Given the description of an element on the screen output the (x, y) to click on. 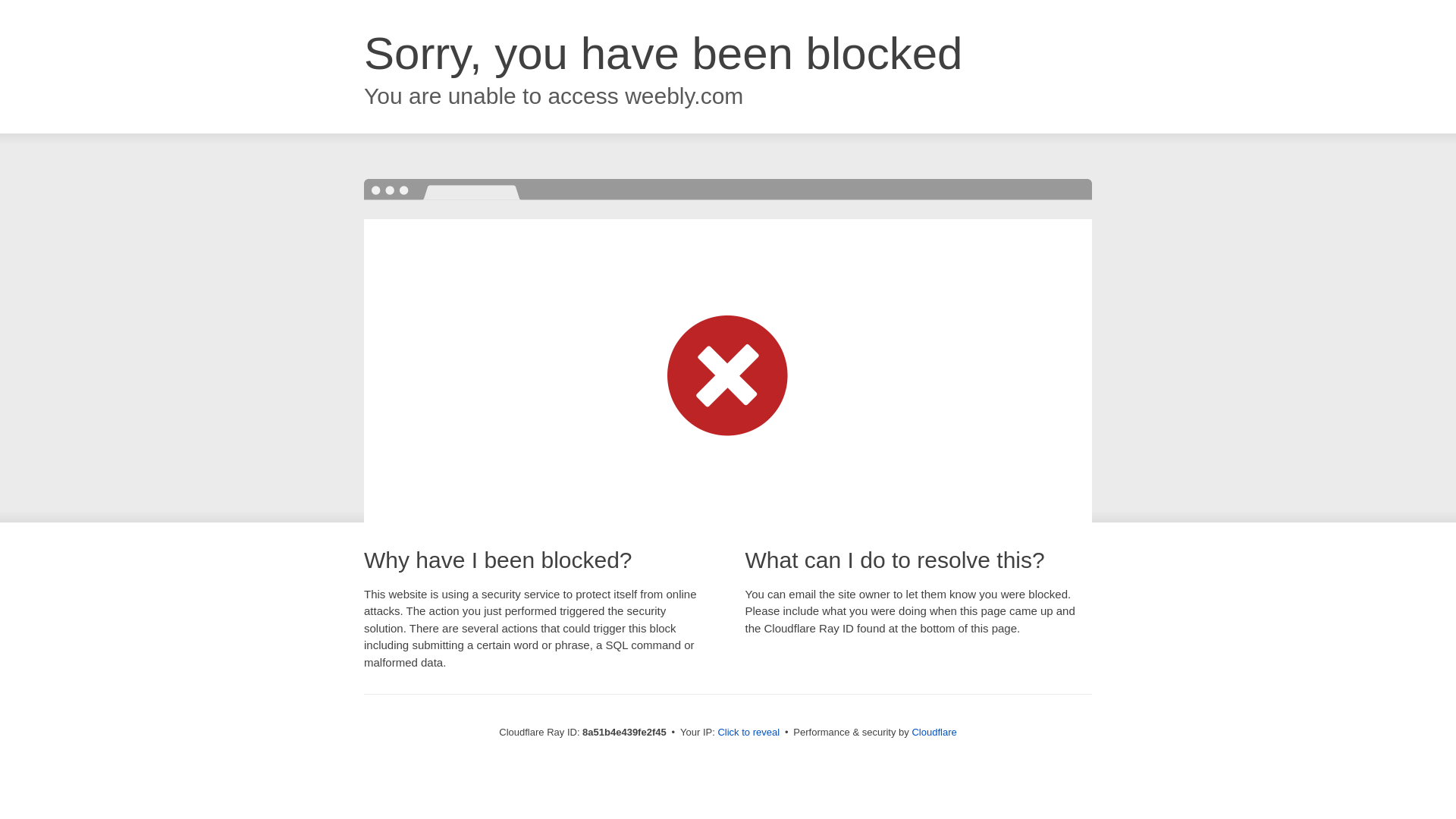
Cloudflare (933, 731)
Click to reveal (747, 732)
